Given the description of an element on the screen output the (x, y) to click on. 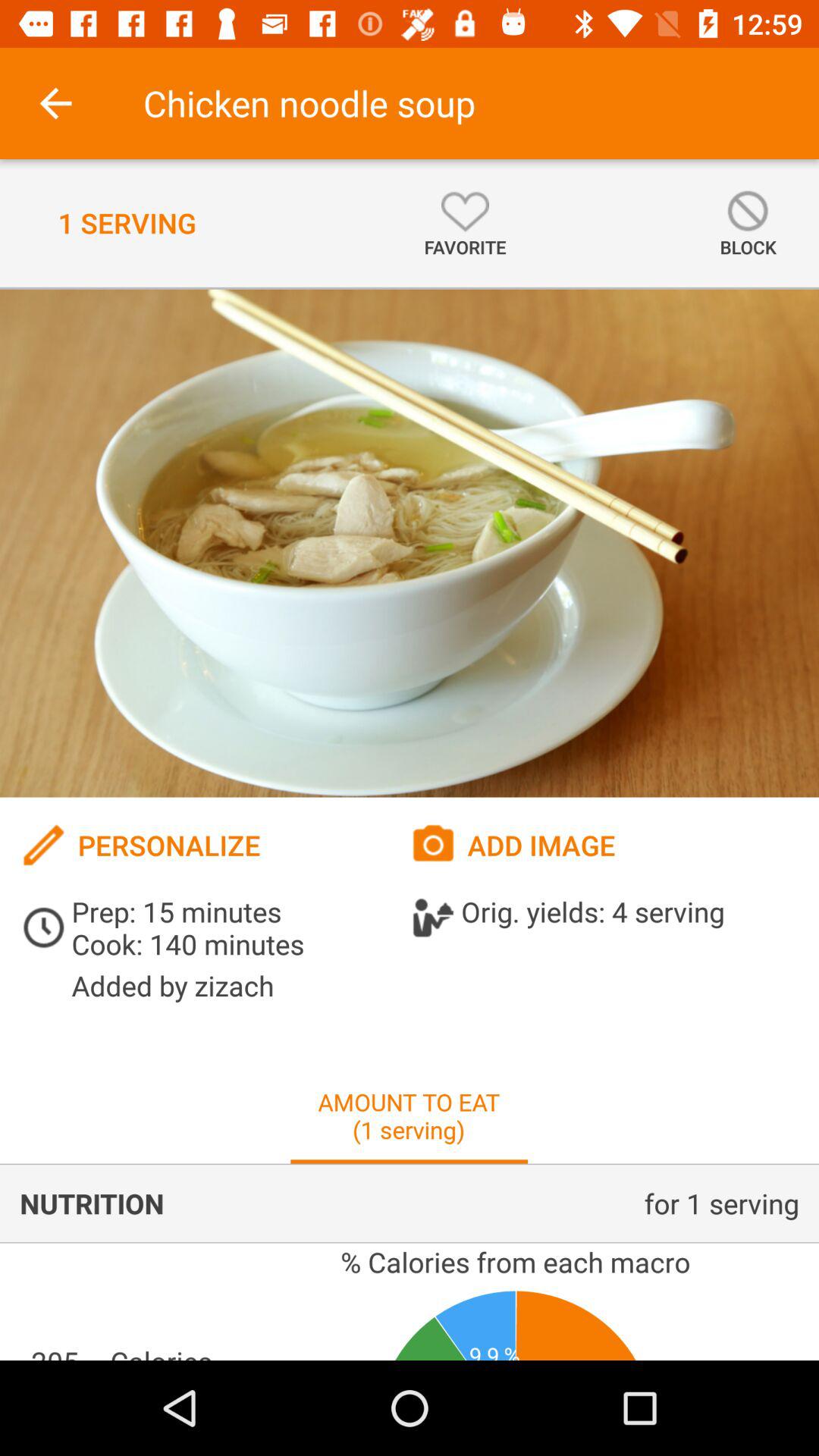
click the item above prep 15 minutes item (214, 844)
